Given the description of an element on the screen output the (x, y) to click on. 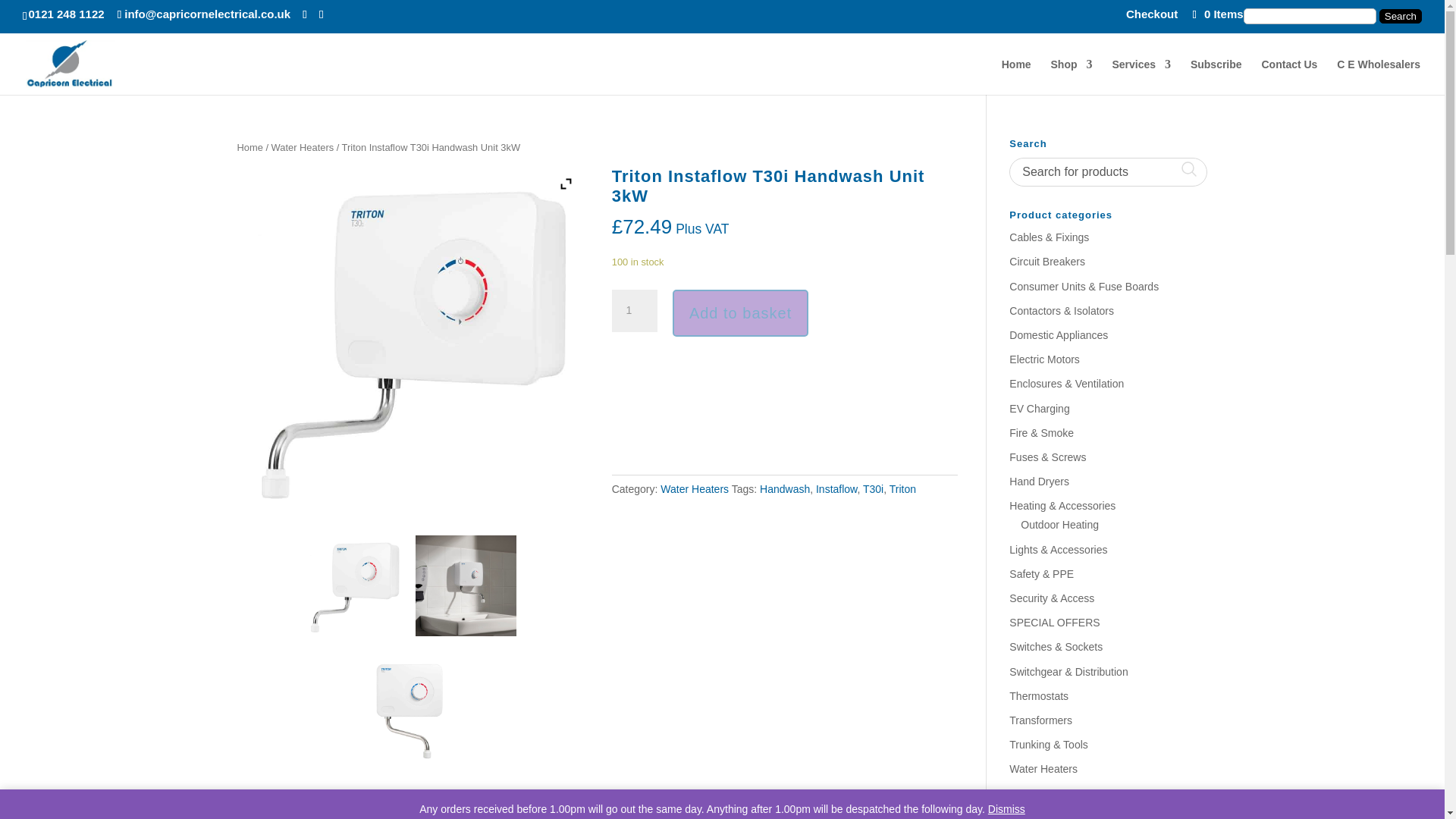
Checkout (1151, 17)
Skip to the beginning of the images gallery (408, 339)
1 (634, 310)
PayPal Message 1 (784, 364)
PayPal (784, 403)
C E Wholesalers (1378, 76)
Contact Us (1289, 76)
Skip to the beginning of the images gallery1 (465, 585)
Subscribe (1216, 76)
Search (1400, 16)
Search (1400, 16)
Skip to the beginning of the images gallery 2 (409, 710)
Skip to the beginning of the images gallery (354, 585)
Shop (1072, 76)
0 Items (1216, 13)
